Given the description of an element on the screen output the (x, y) to click on. 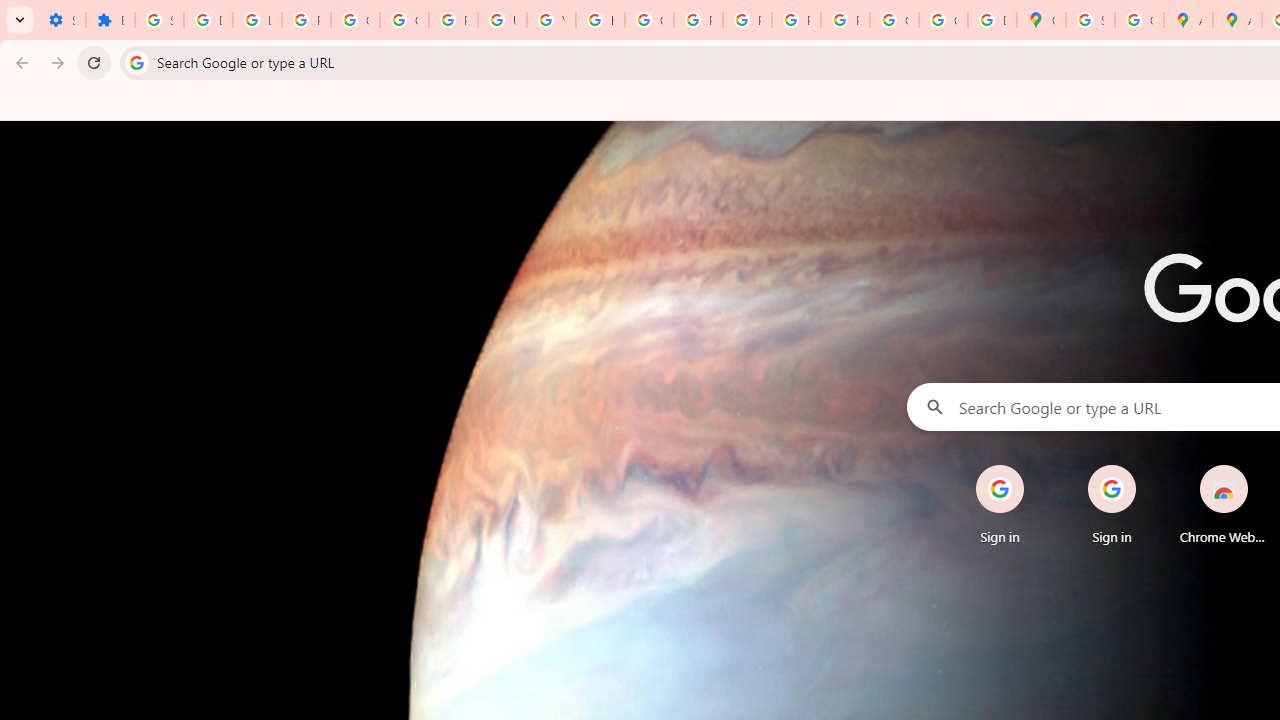
Google Account Help (355, 20)
Settings - On startup (61, 20)
Remove (1263, 466)
Sign in - Google Accounts (1090, 20)
Chrome Web Store (1223, 504)
Google Maps (1041, 20)
